Given the description of an element on the screen output the (x, y) to click on. 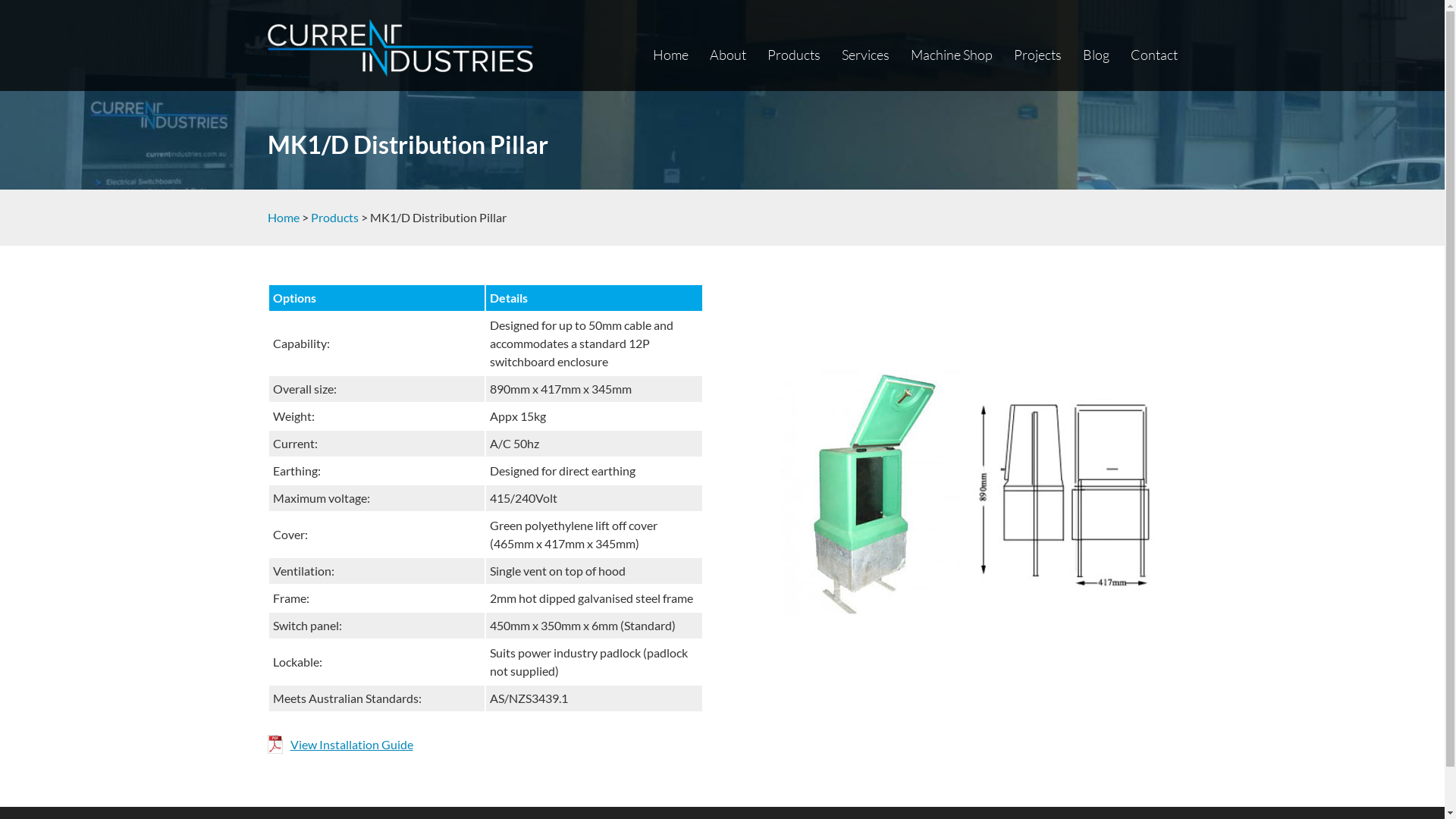
Projects Element type: text (1036, 54)
About Element type: text (727, 54)
Services Element type: text (865, 54)
Machine Shop Element type: text (950, 54)
View Installation Guide Element type: text (339, 743)
Home Element type: text (282, 217)
Home Element type: text (669, 54)
Products Element type: text (793, 54)
Products Element type: text (334, 217)
Contact Element type: text (1152, 54)
Blog Element type: text (1095, 54)
